Given the description of an element on the screen output the (x, y) to click on. 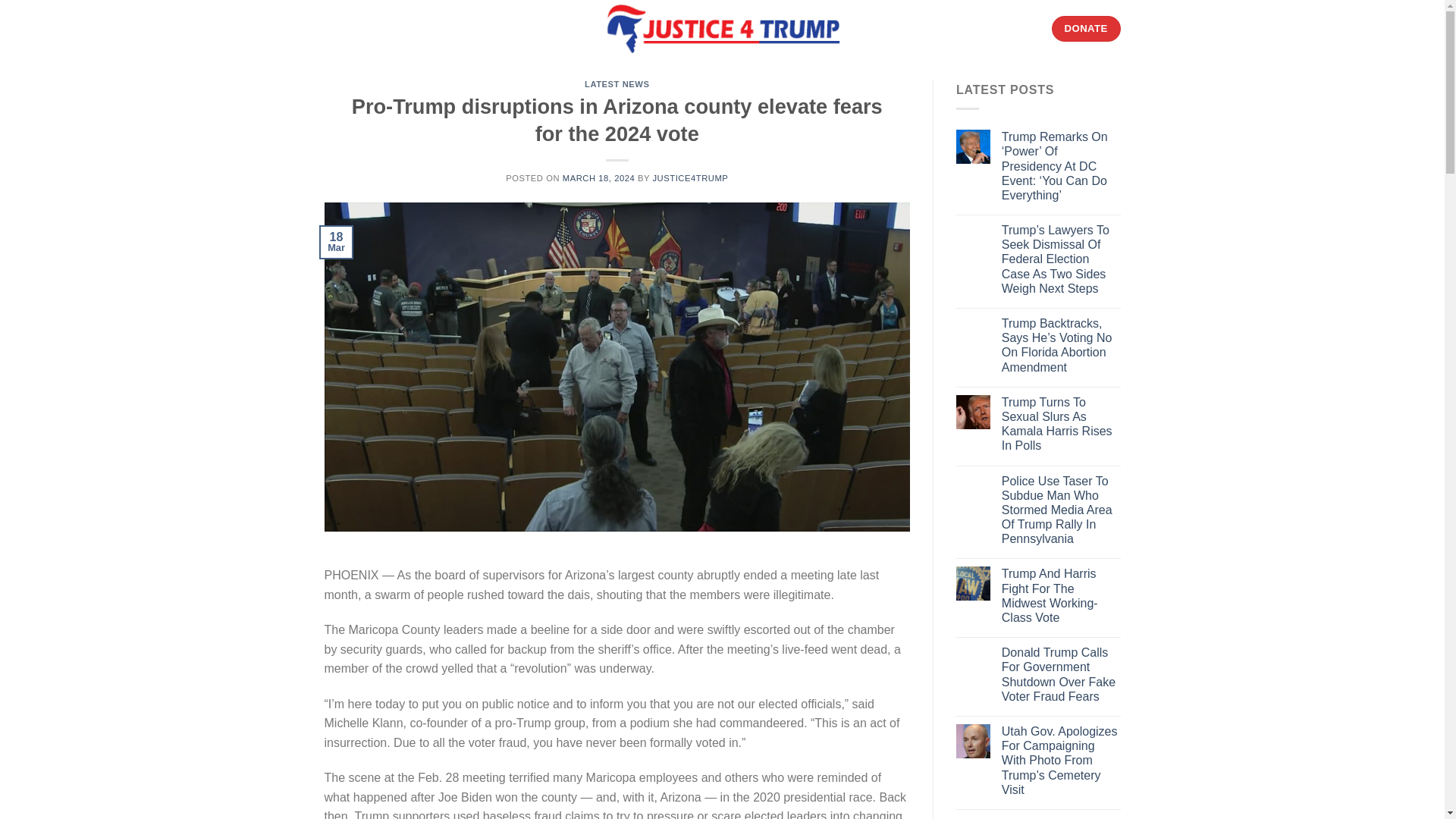
LATEST NEWS (617, 83)
JUSTICE4TRUMP (690, 177)
Justice 4 Trump (721, 29)
Trump Turns To Sexual Slurs As Kamala Harris Rises In Polls (1061, 423)
MARCH 18, 2024 (598, 177)
MENU (350, 27)
DONATE (1086, 28)
